Given the description of an element on the screen output the (x, y) to click on. 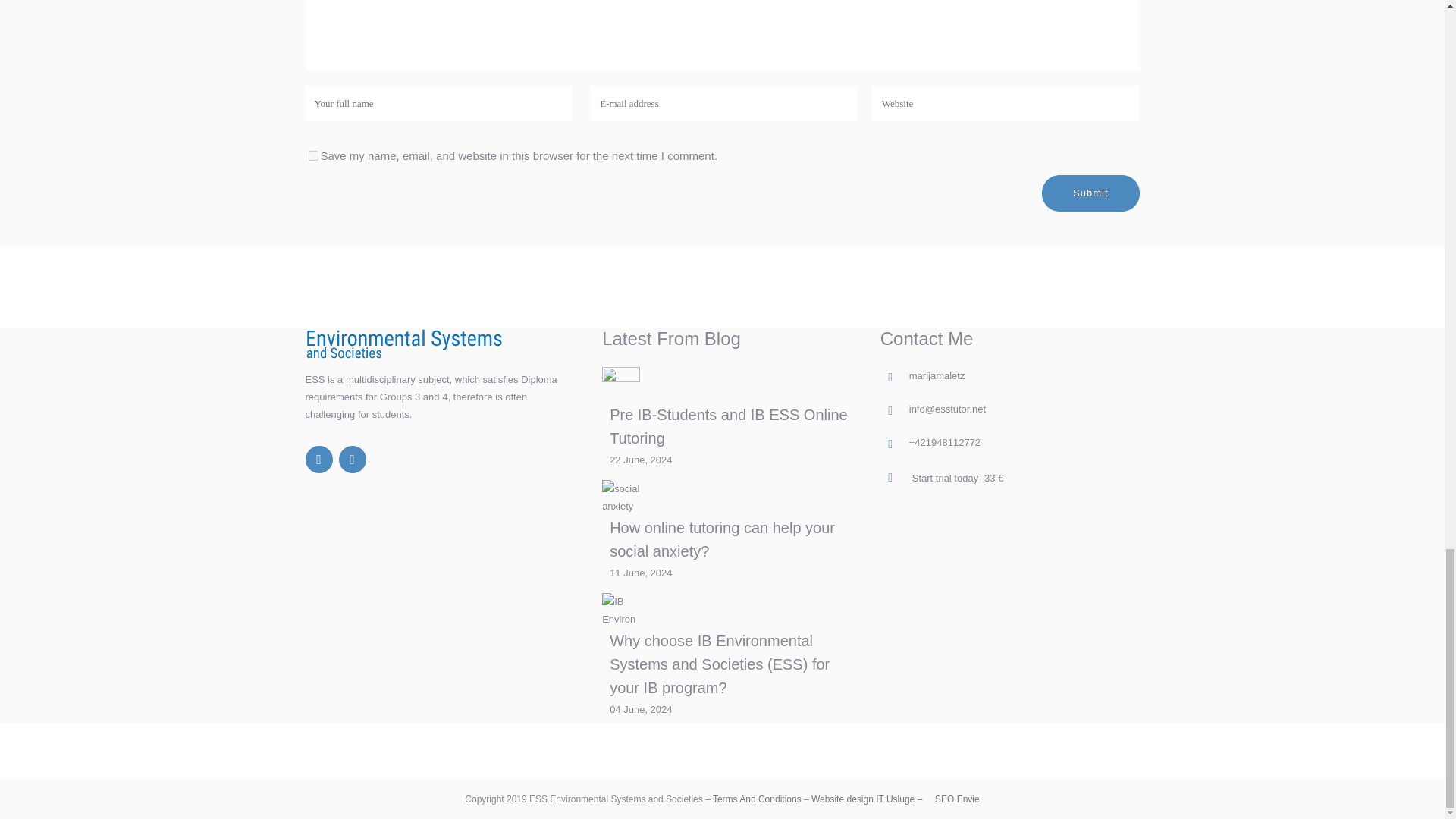
yes (312, 155)
Submit (1090, 193)
Pre IB-Students and IB ESS Online Tutoring (728, 426)
Submit (1090, 193)
